Given the description of an element on the screen output the (x, y) to click on. 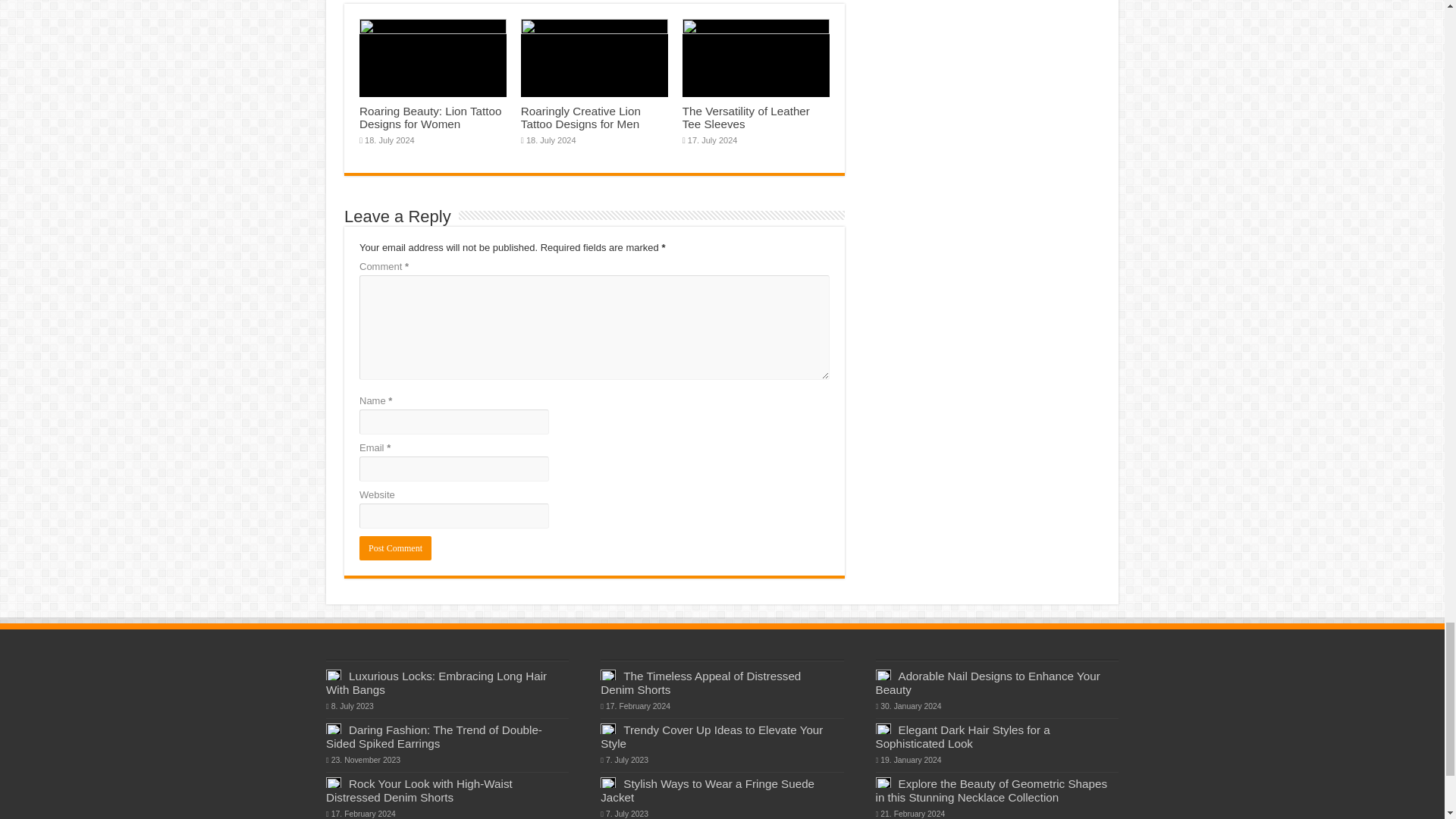
Post Comment (394, 548)
The Timeless Appeal of Distressed Denim Shorts (699, 682)
Rock Your Look with High-Waist Distressed Denim Shorts (419, 790)
Roaring Beauty: Lion Tattoo Designs for Women (429, 117)
Post Comment (394, 548)
The Versatility of Leather Tee Sleeves (745, 117)
Roaringly Creative Lion Tattoo Designs for Men (580, 117)
Luxurious Locks: Embracing Long Hair With Bangs (436, 682)
Daring Fashion: The Trend of Double-Sided Spiked Earrings (433, 736)
